Given the description of an element on the screen output the (x, y) to click on. 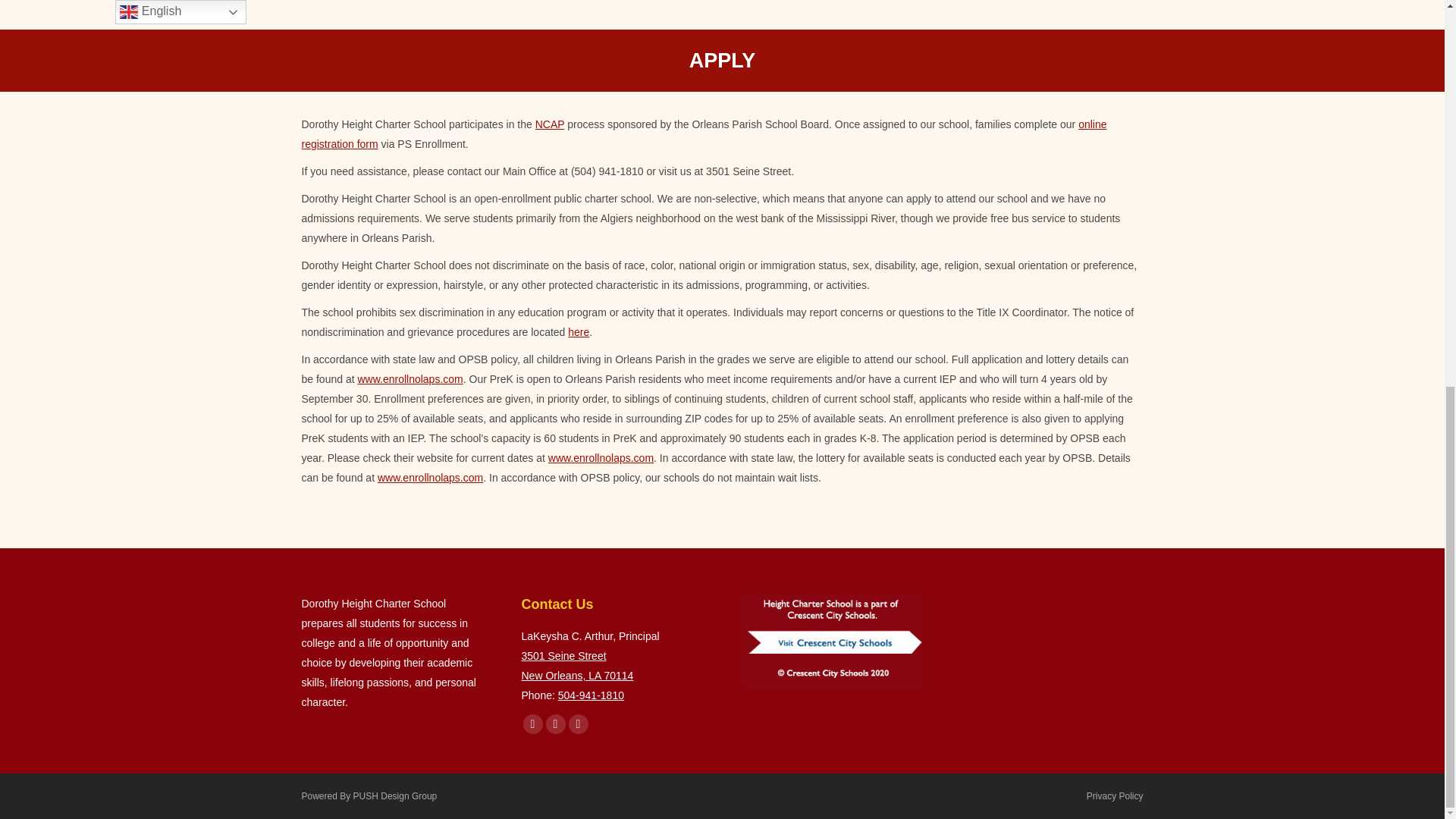
NCAP (549, 123)
Facebook page opens in new window (532, 723)
Instagram page opens in new window (578, 723)
X page opens in new window (556, 723)
